Given the description of an element on the screen output the (x, y) to click on. 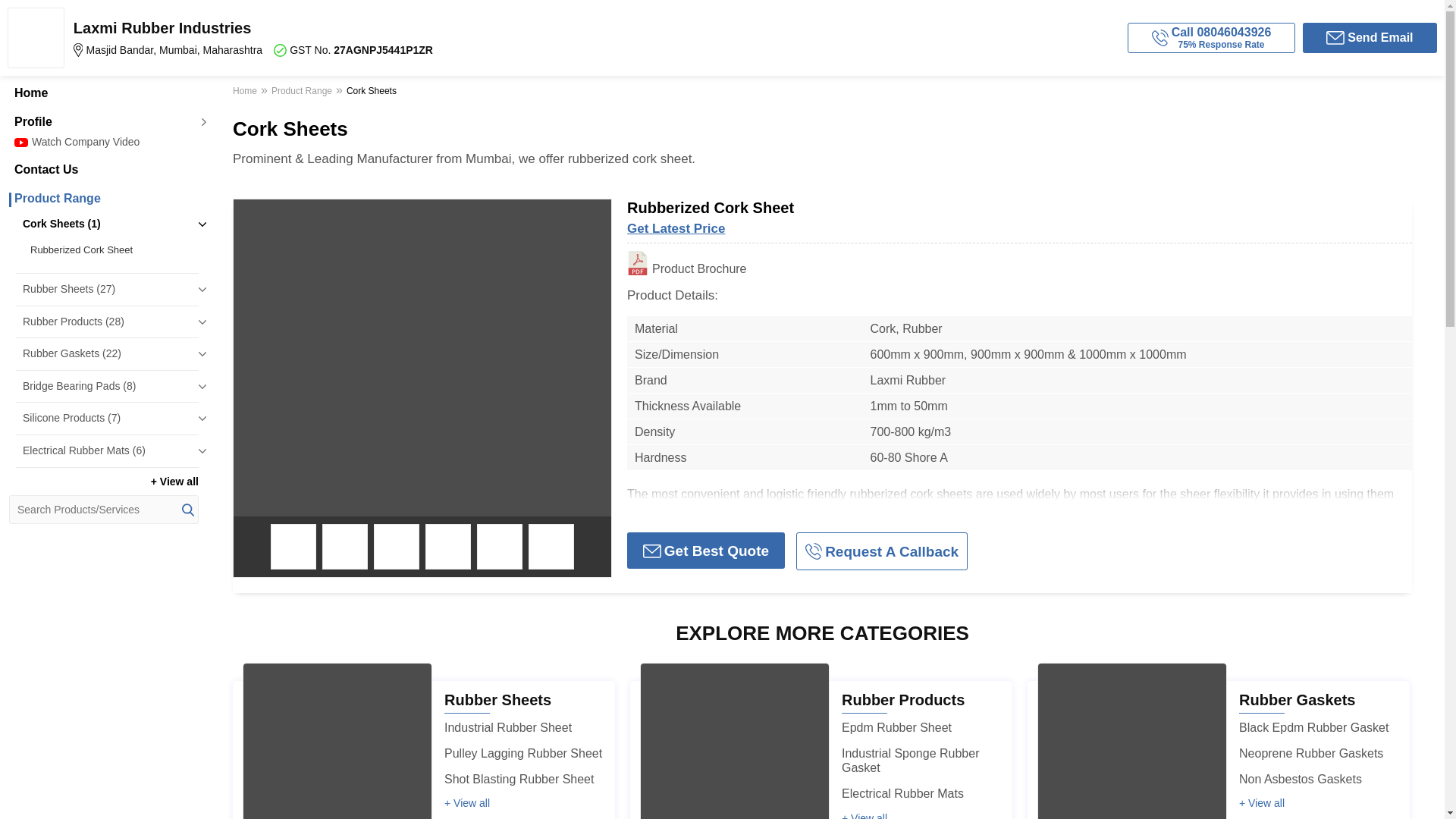
Contact Us (103, 169)
Product Range (103, 198)
Home (103, 92)
Profile (103, 121)
Rubberized Cork Sheet (110, 250)
